Given the description of an element on the screen output the (x, y) to click on. 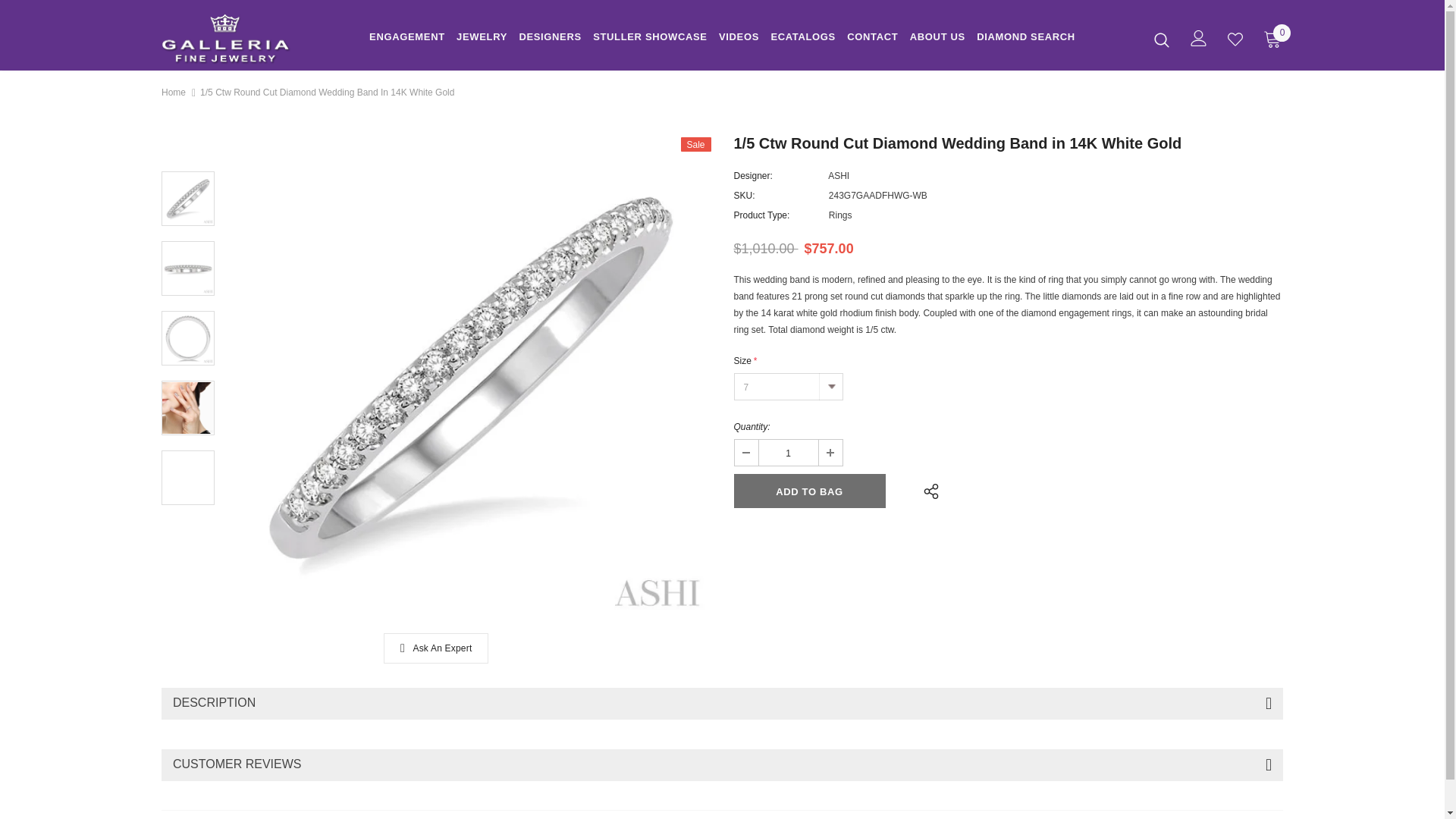
ECATALOGS (802, 39)
DIAMOND SEARCH (1025, 39)
ABOUT US (937, 39)
DESIGNERS (549, 39)
Add to Bag (809, 490)
1 (787, 452)
VIDEOS (738, 39)
JEWELRY (481, 39)
ENGAGEMENT (407, 39)
STULLER SHOWCASE (649, 39)
